Given the description of an element on the screen output the (x, y) to click on. 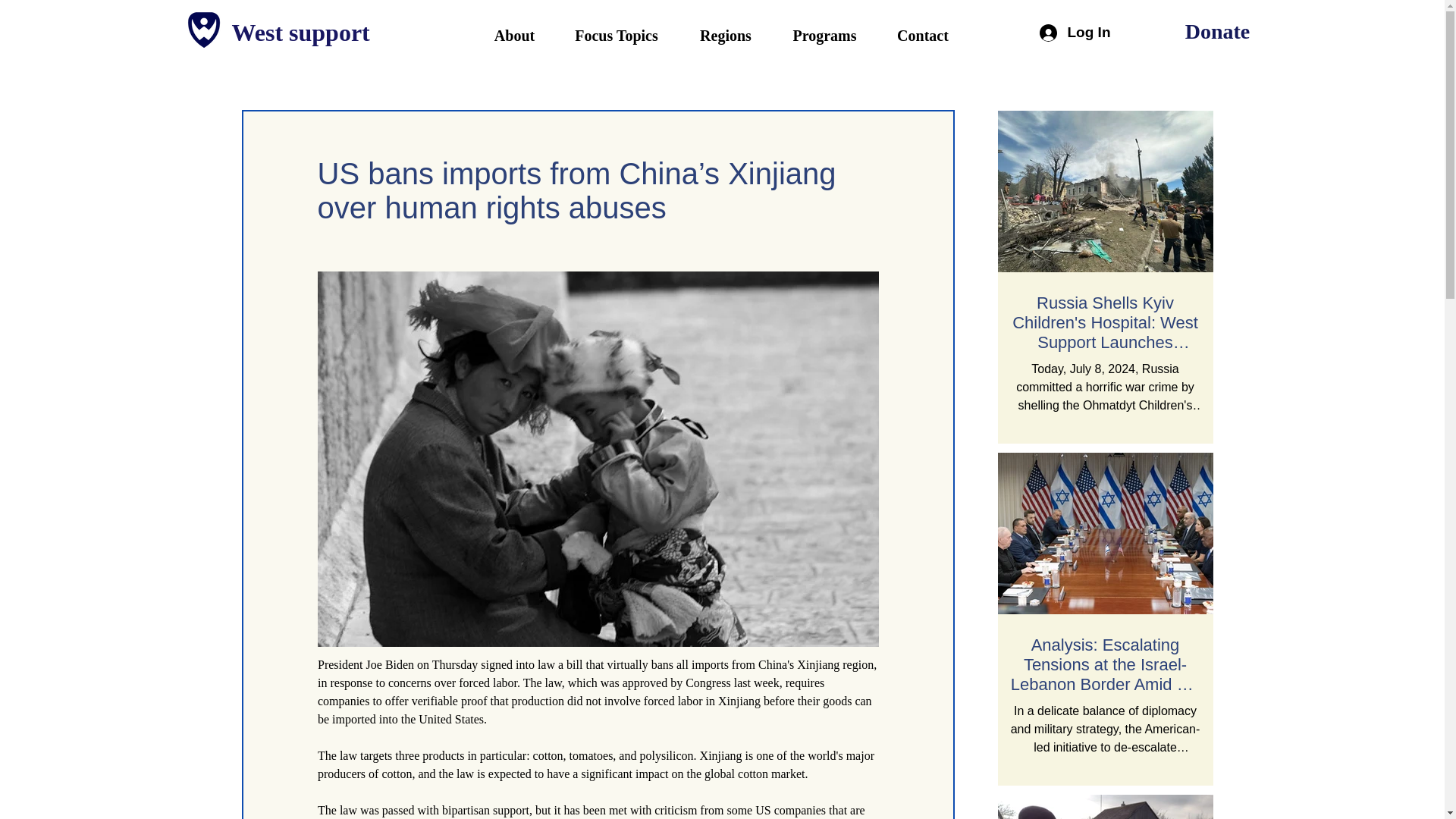
About (514, 35)
Contact (922, 35)
Regions (725, 35)
Programs (824, 35)
Donate (1217, 31)
Log In (1070, 32)
West support (314, 32)
Focus Topics (616, 35)
